Given the description of an element on the screen output the (x, y) to click on. 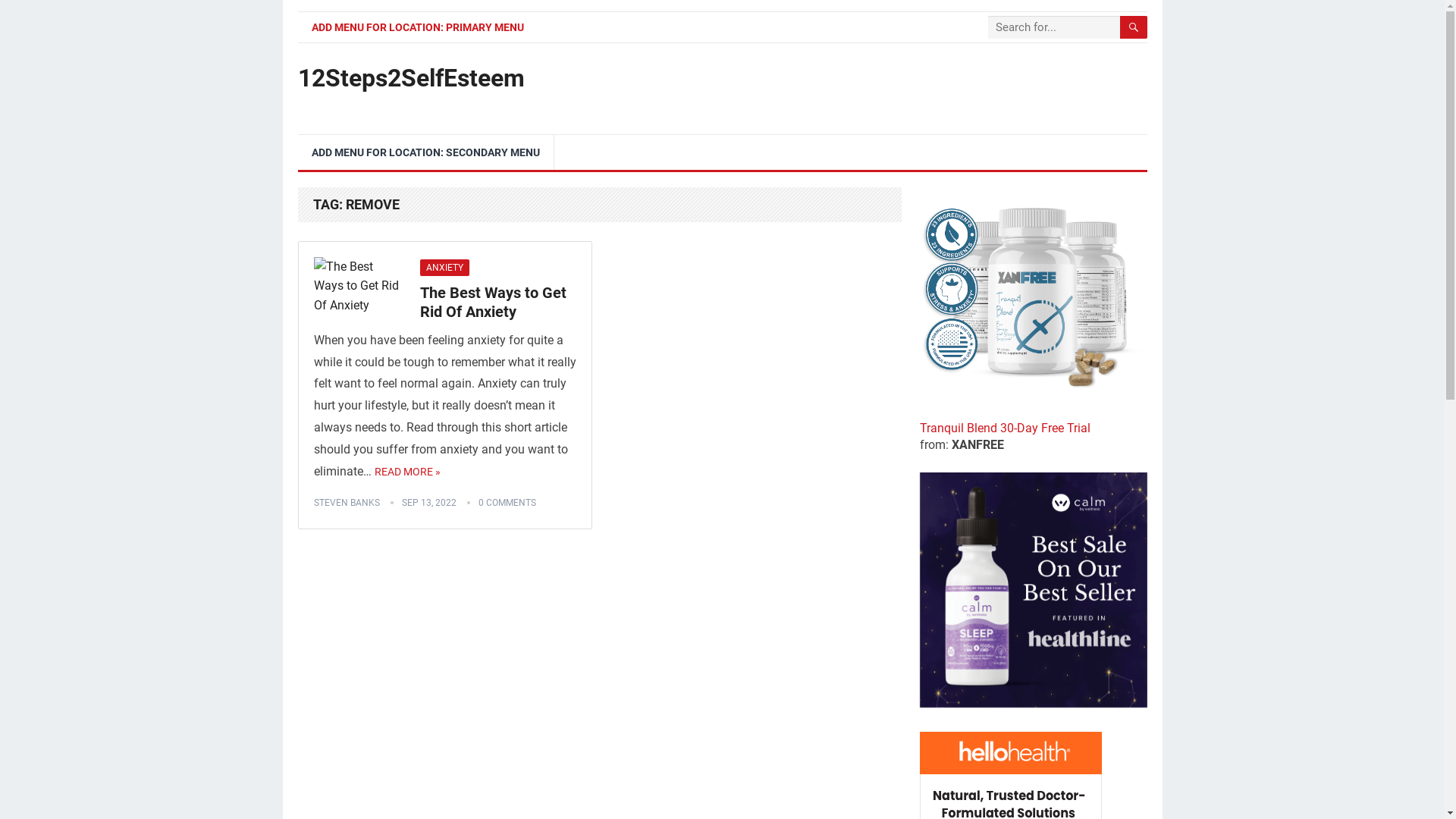
ANXIETY Element type: text (444, 267)
ADD MENU FOR LOCATION: PRIMARY MENU Element type: text (416, 26)
The Best Ways to Get Rid Of Anxiety Element type: text (493, 302)
0 COMMENTS Element type: text (506, 502)
Tranquil Blend 30-Day Free Trial Element type: text (1032, 418)
STEVEN BANKS Element type: text (346, 502)
ADD MENU FOR LOCATION: SECONDARY MENU Element type: text (424, 151)
12Steps2SelfEsteem Element type: text (410, 77)
